Given the description of an element on the screen output the (x, y) to click on. 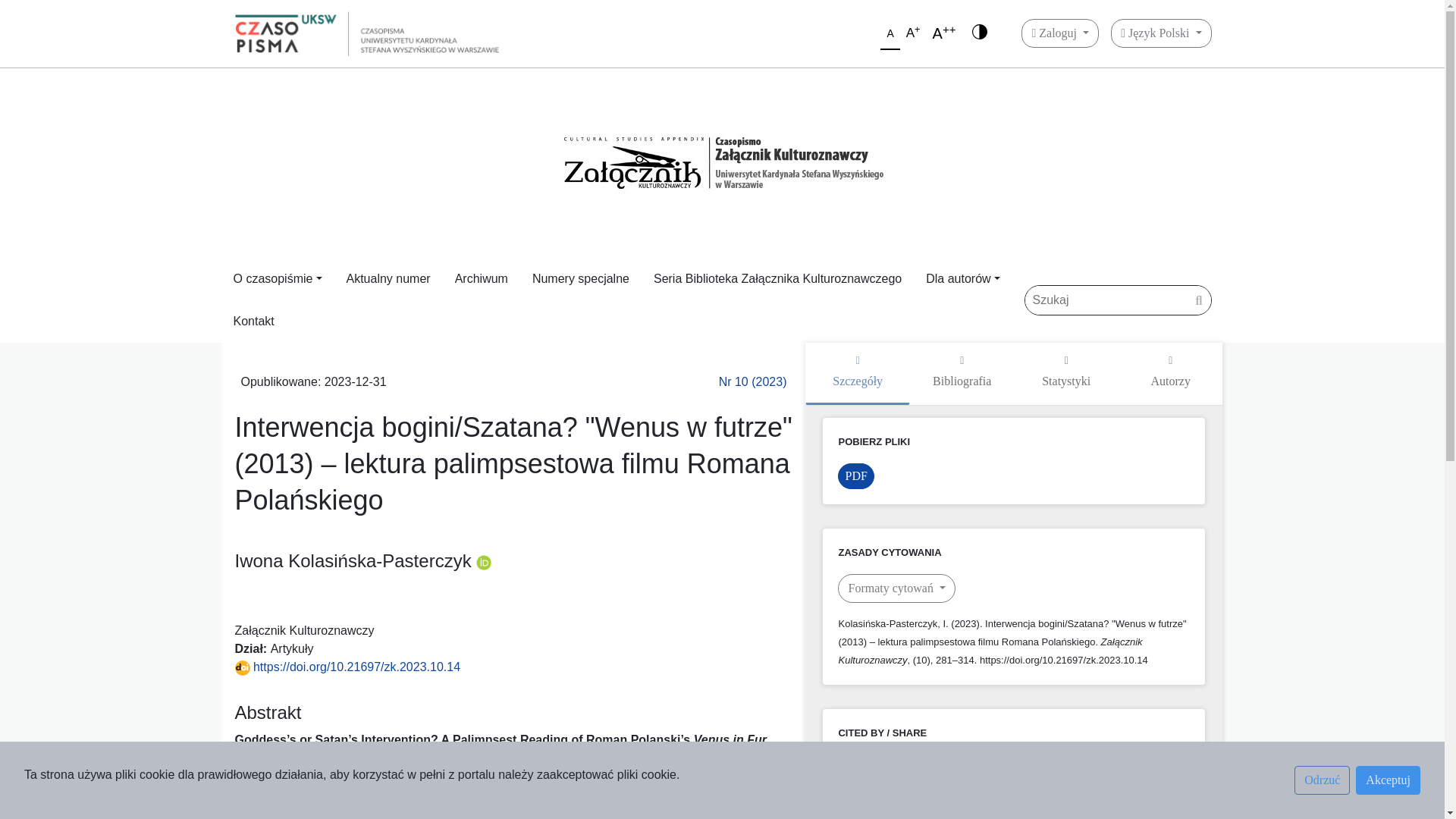
Archiwum (481, 279)
Kontakt (253, 321)
Numery specjalne (580, 279)
Zaloguj (1060, 32)
Aktualny numer (387, 279)
